Given the description of an element on the screen output the (x, y) to click on. 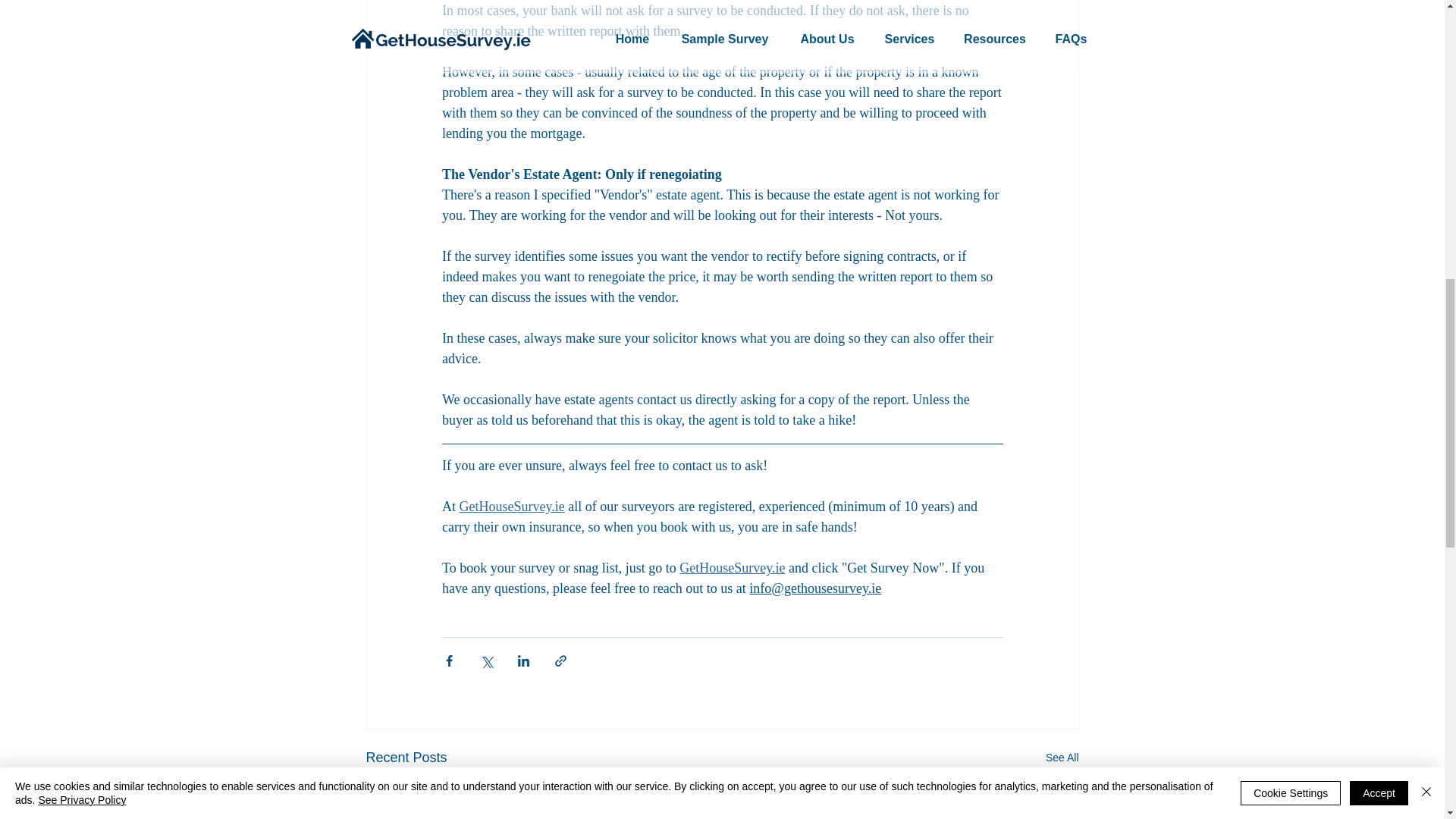
GetHouseSurvey.ie (511, 506)
See All (1061, 757)
GetHouseSurvey.ie (731, 567)
